Given the description of an element on the screen output the (x, y) to click on. 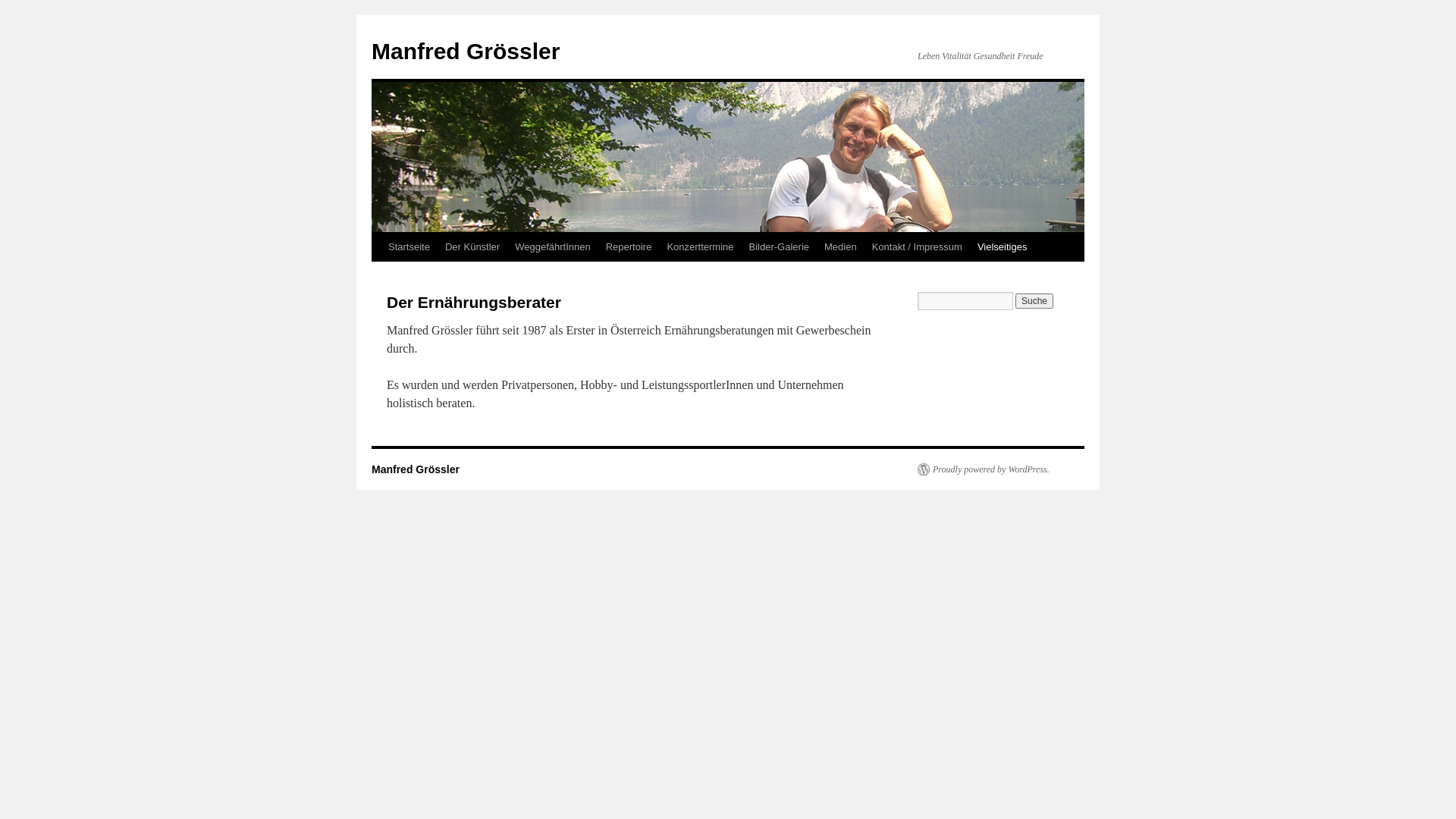
Konzerttermine Element type: text (699, 246)
Bilder-Galerie Element type: text (778, 246)
Proudly powered by WordPress. Element type: text (983, 469)
Startseite Element type: text (408, 246)
Suche Element type: text (1034, 300)
Medien Element type: text (840, 246)
Vielseitiges Element type: text (1002, 246)
Kontakt / Impressum Element type: text (916, 246)
Zum Inhalt springen Element type: text (378, 275)
Repertoire Element type: text (628, 246)
